Given the description of an element on the screen output the (x, y) to click on. 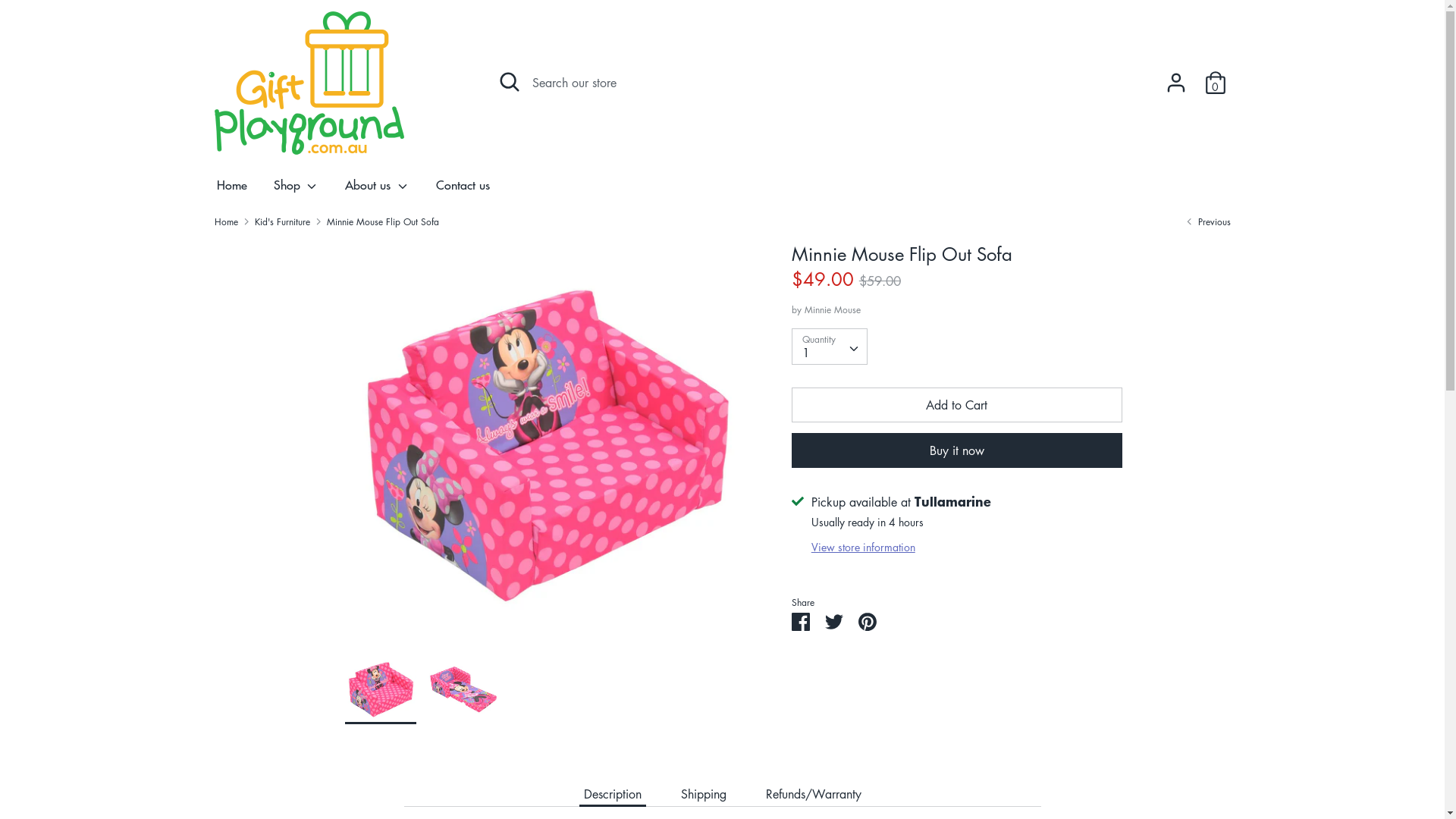
Kid's Furniture Element type: text (282, 221)
Shipping Element type: text (703, 793)
Home Element type: text (230, 189)
Share on Twitter Element type: text (834, 620)
Minnie Mouse Flip Out Sofa Element type: text (382, 221)
Refunds/Warranty Element type: text (813, 793)
Buy it now Element type: text (956, 450)
About us Element type: text (376, 189)
Shop Element type: text (296, 189)
Minnie Mouse Element type: text (832, 309)
Add to Cart Element type: text (956, 404)
Description Element type: text (612, 793)
Pin it Element type: text (867, 620)
View store information Element type: text (863, 546)
Previous Element type: text (1206, 221)
Home Element type: text (225, 221)
0 Element type: text (1214, 76)
Share on Facebook Element type: text (800, 620)
Contact us Element type: text (462, 189)
